Given the description of an element on the screen output the (x, y) to click on. 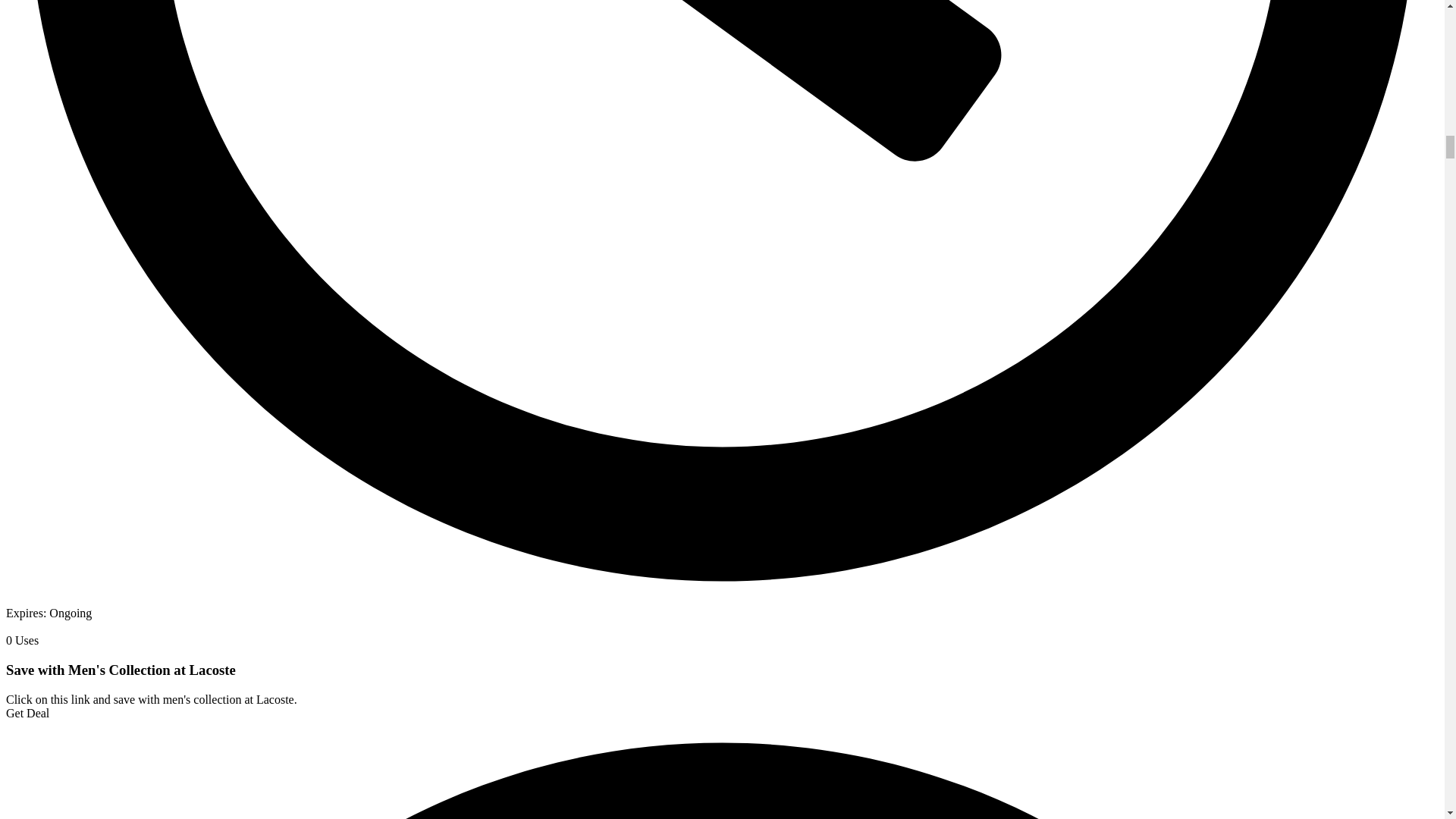
Get Deal (27, 712)
